Given the description of an element on the screen output the (x, y) to click on. 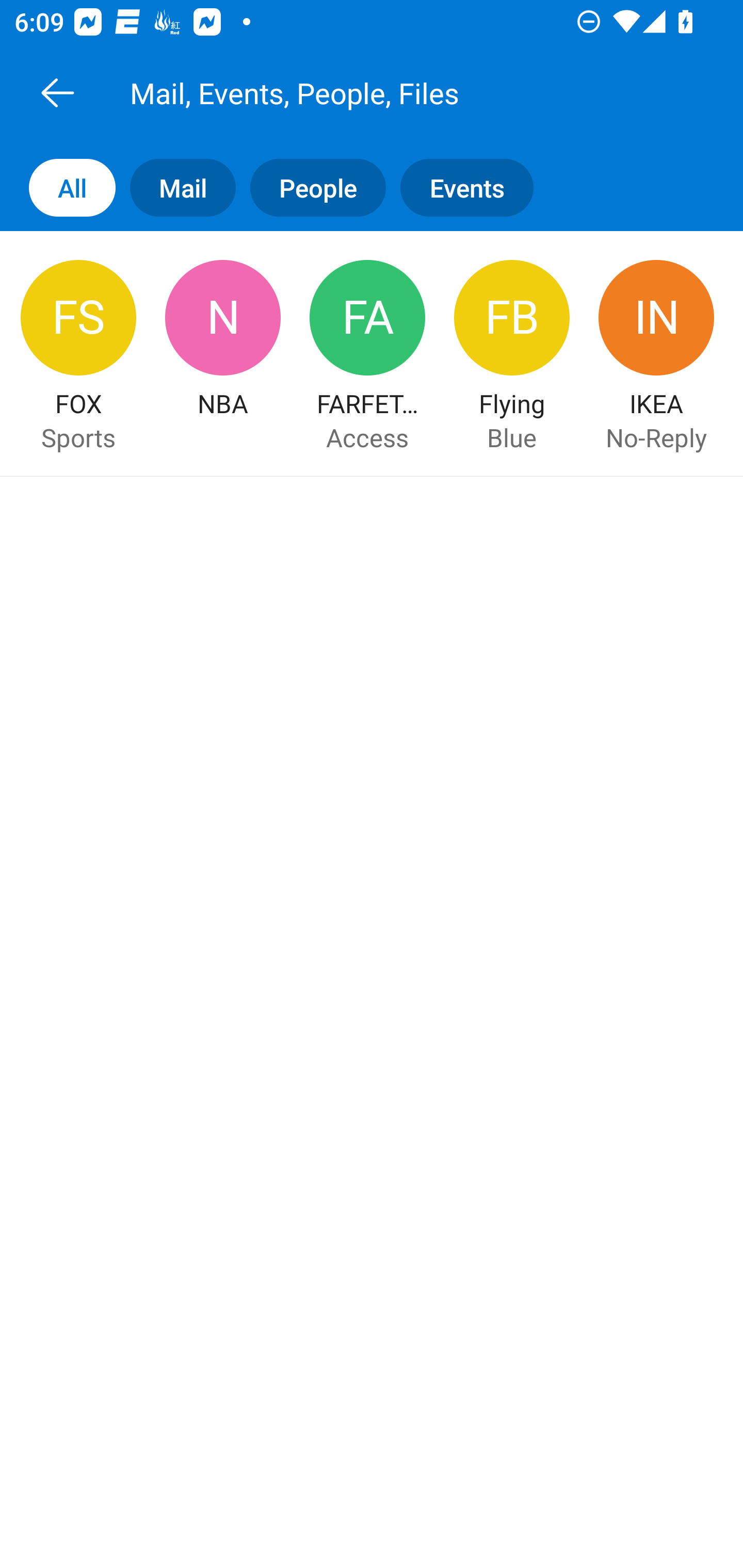
Back (57, 92)
Mail, Events, People, Files (394, 92)
Mail (175, 187)
People (310, 187)
Events (473, 187)
